Given the description of an element on the screen output the (x, y) to click on. 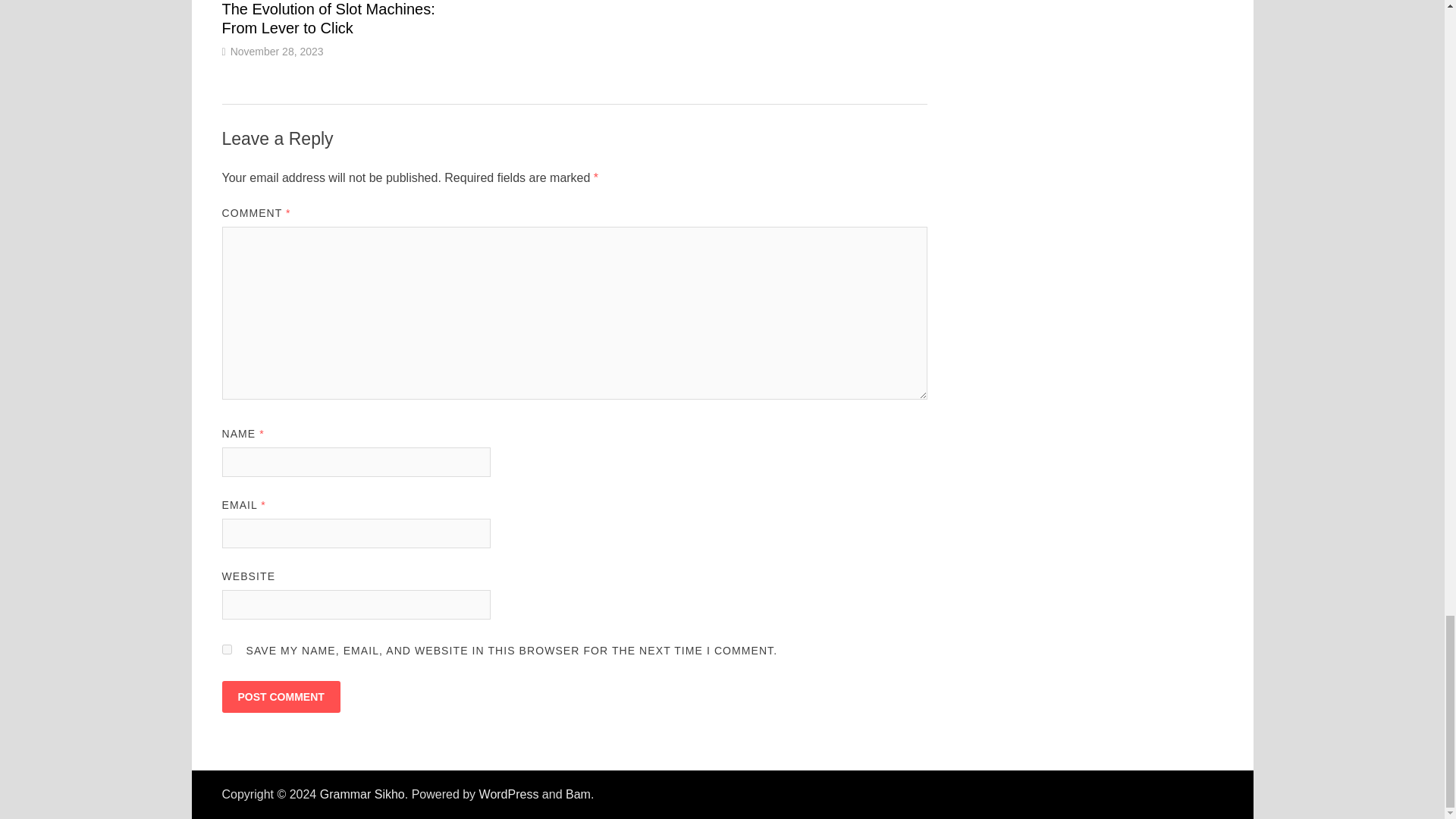
Post Comment (280, 696)
Grammar Sikho (362, 793)
yes (226, 649)
The Evolution of Slot Machines: From Lever to Click (327, 18)
